Given the description of an element on the screen output the (x, y) to click on. 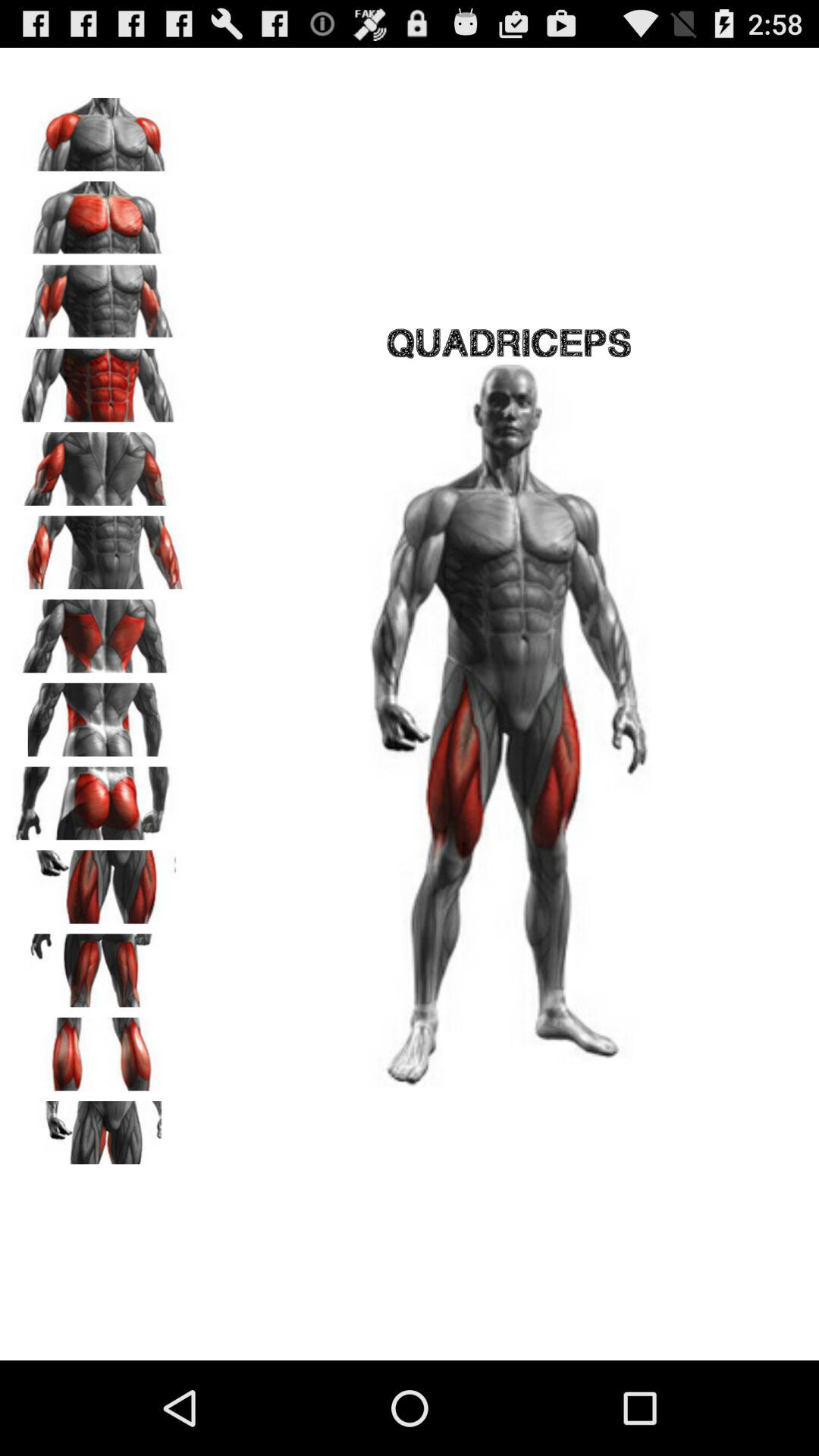
switch to select (99, 296)
